Given the description of an element on the screen output the (x, y) to click on. 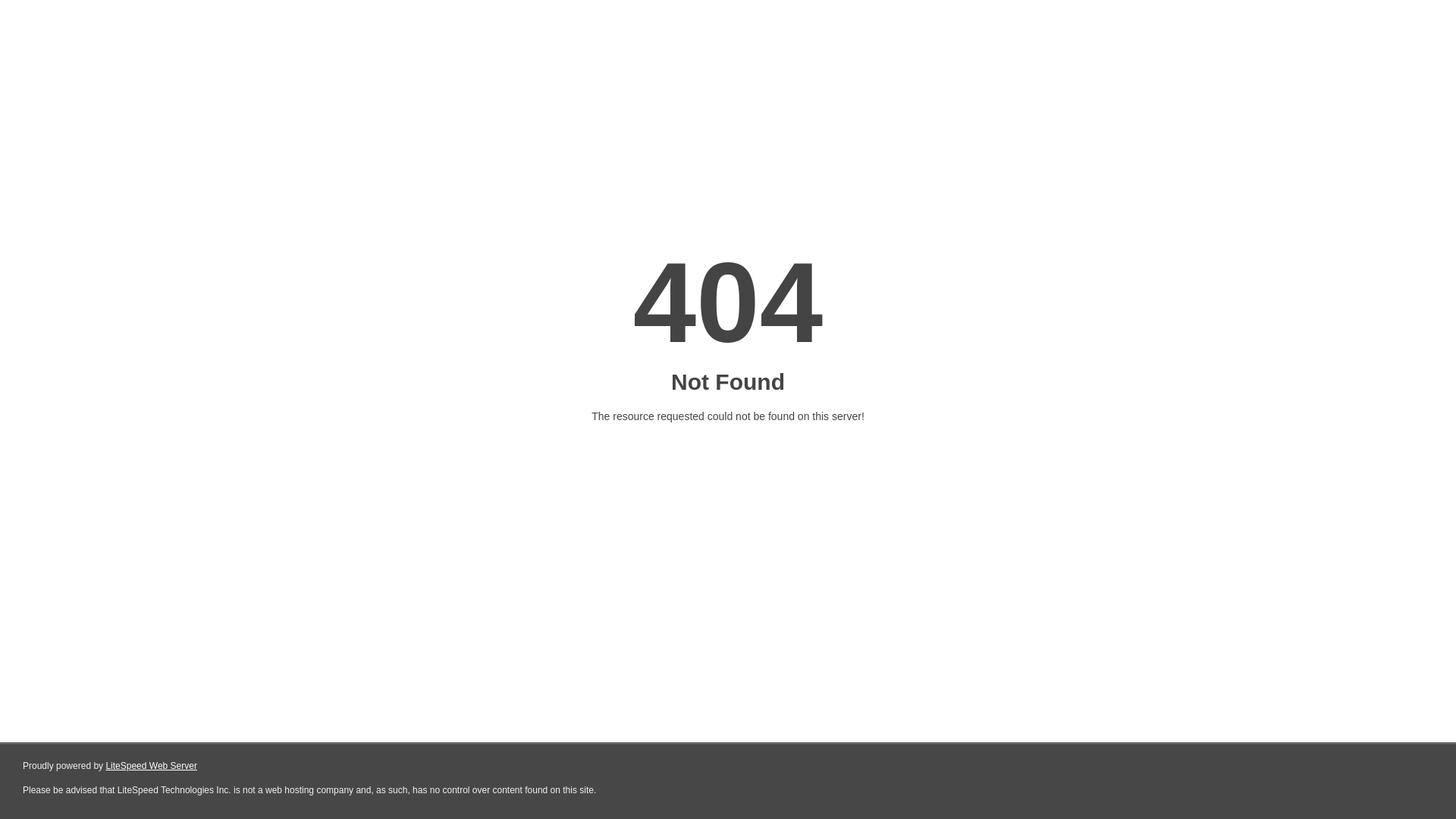
LiteSpeed Web Server Element type: text (151, 765)
